Given the description of an element on the screen output the (x, y) to click on. 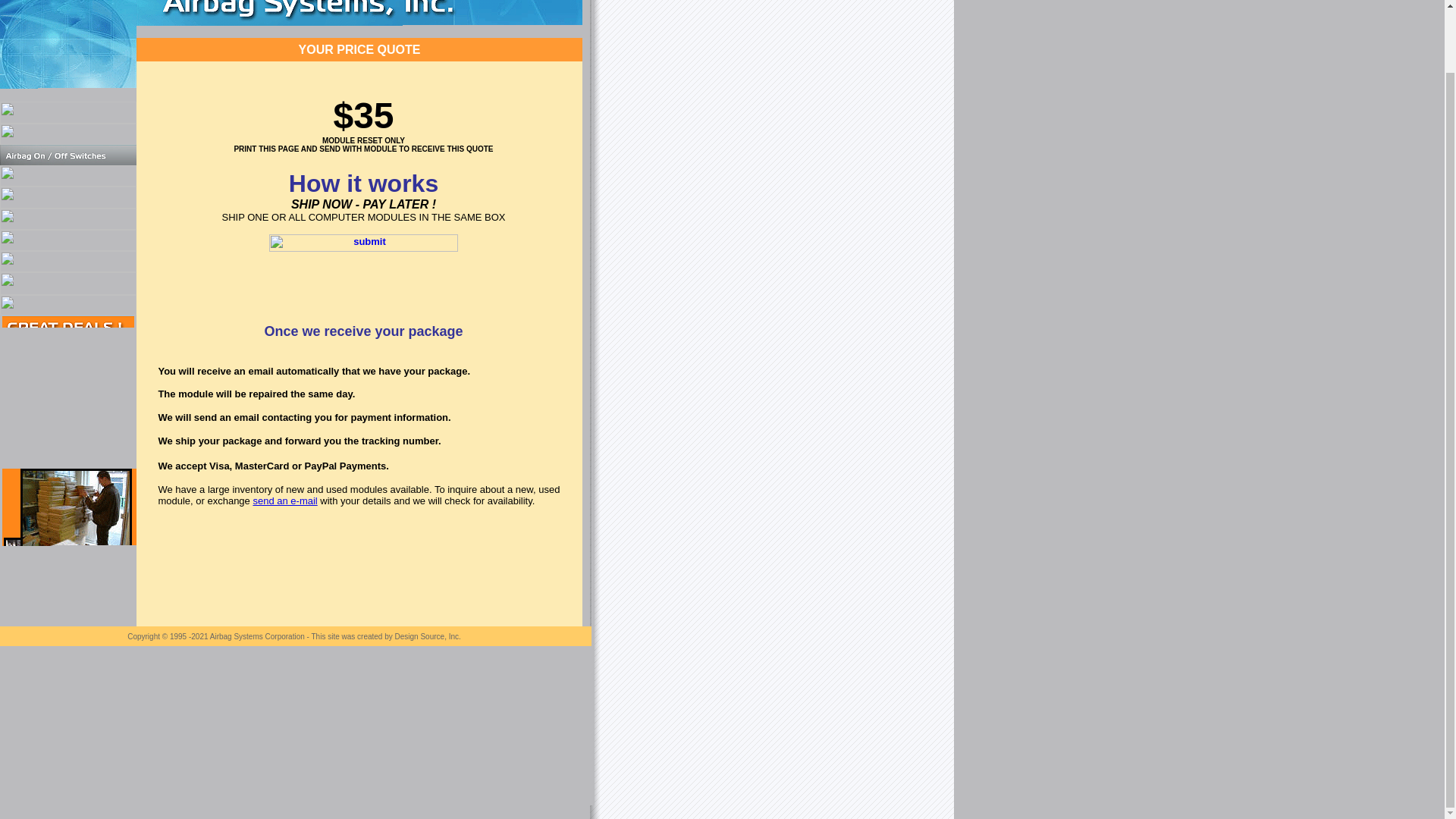
send an e-mail (284, 500)
